Given the description of an element on the screen output the (x, y) to click on. 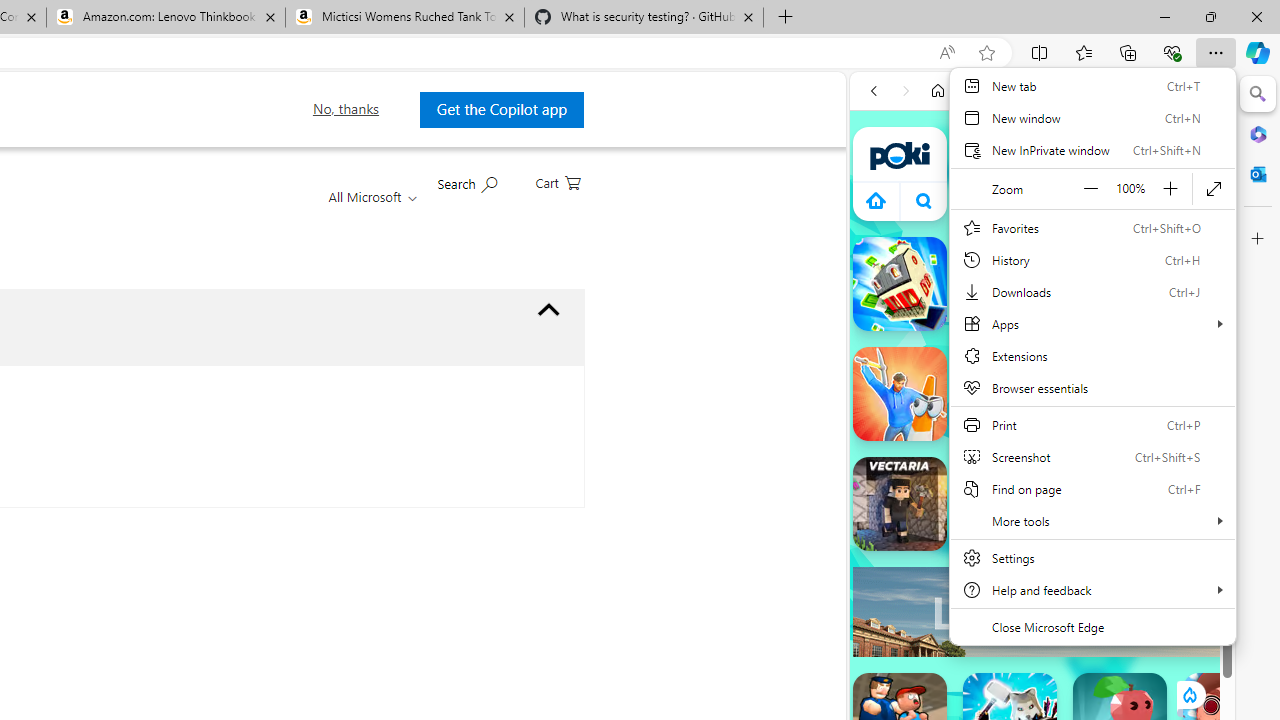
Shooting Games (1042, 518)
Car Games (1042, 470)
Vectaria.io (899, 503)
Stack City (899, 283)
Print (1092, 424)
Zoom in (Ctrl+Plus key) (1170, 188)
Help and feedback (1092, 589)
